Given the description of an element on the screen output the (x, y) to click on. 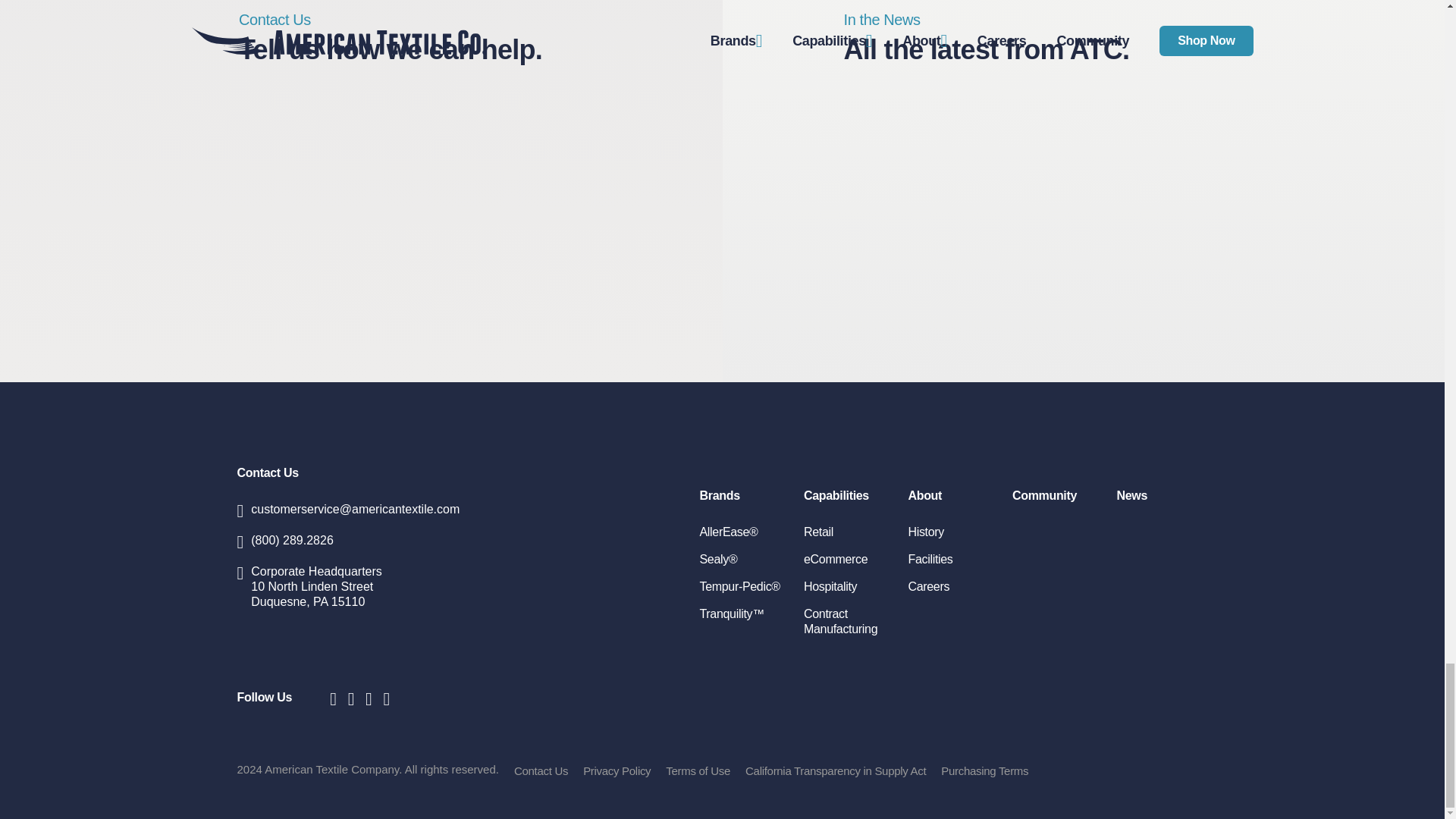
Brands (718, 495)
Capabilities (266, 472)
